Given the description of an element on the screen output the (x, y) to click on. 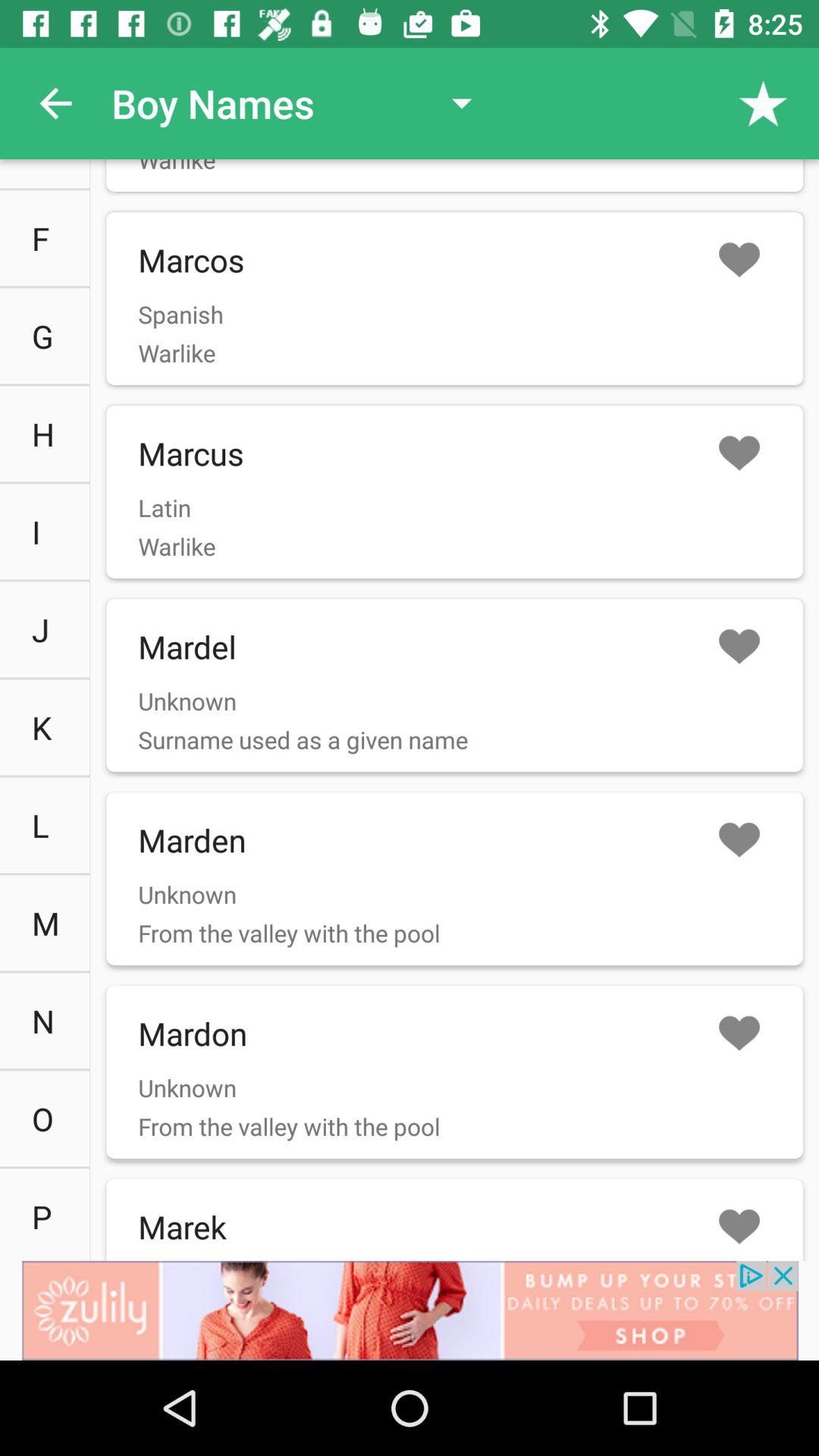
advertisement (409, 1310)
